Given the description of an element on the screen output the (x, y) to click on. 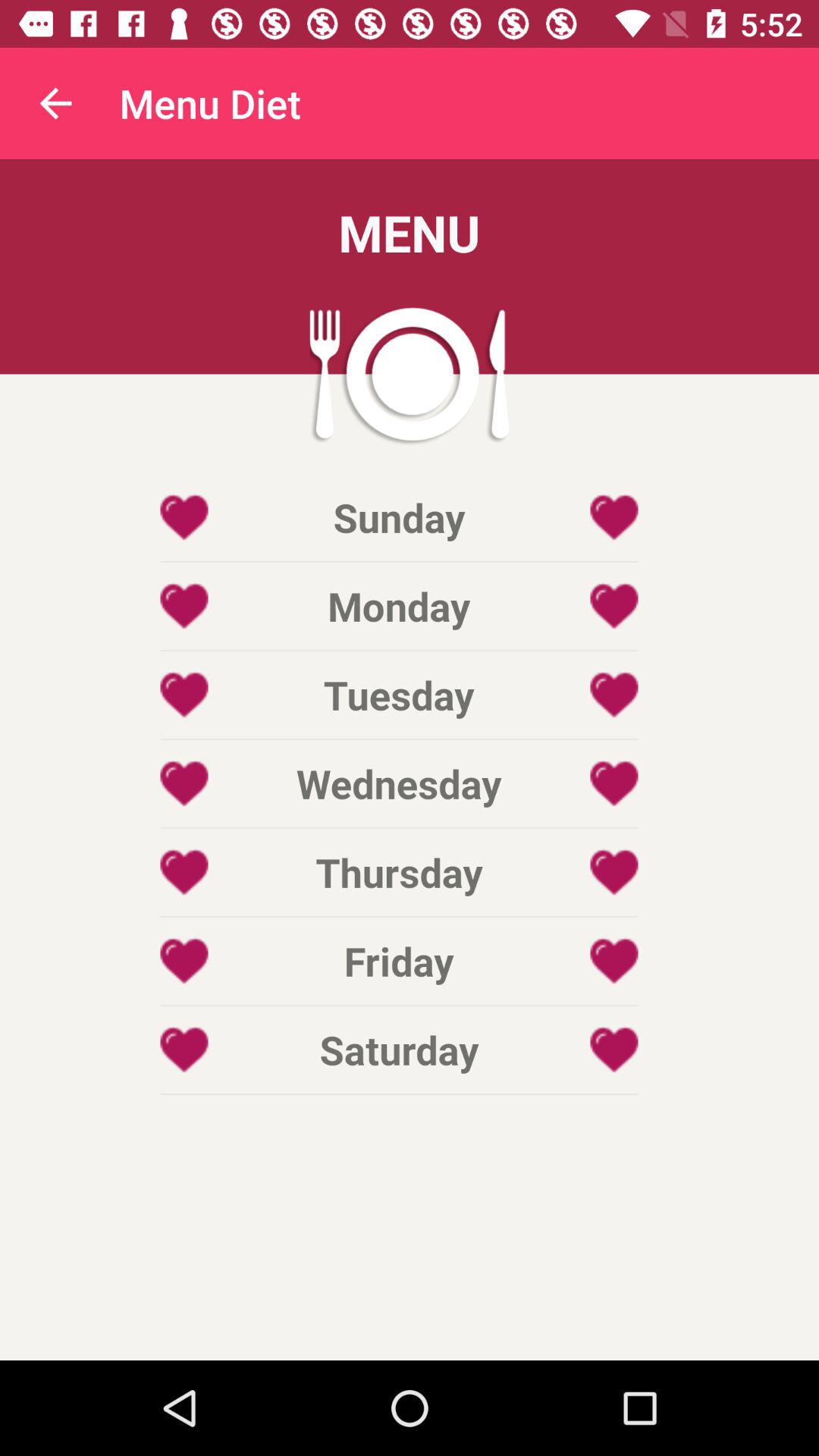
click icon below wednesday item (398, 871)
